Given the description of an element on the screen output the (x, y) to click on. 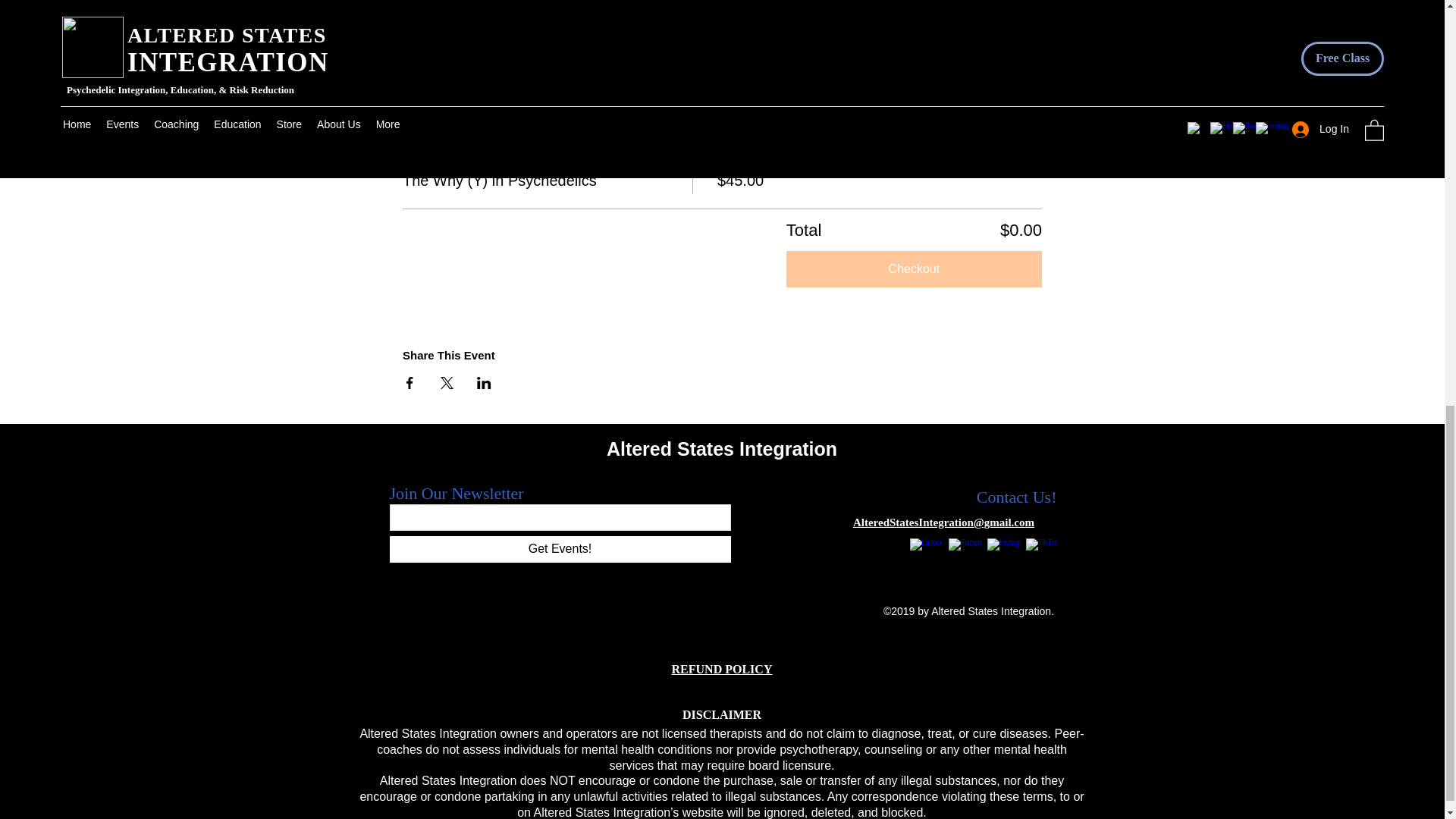
REFUND POLICY (722, 668)
Get Events! (560, 549)
Checkout (914, 268)
